Given the description of an element on the screen output the (x, y) to click on. 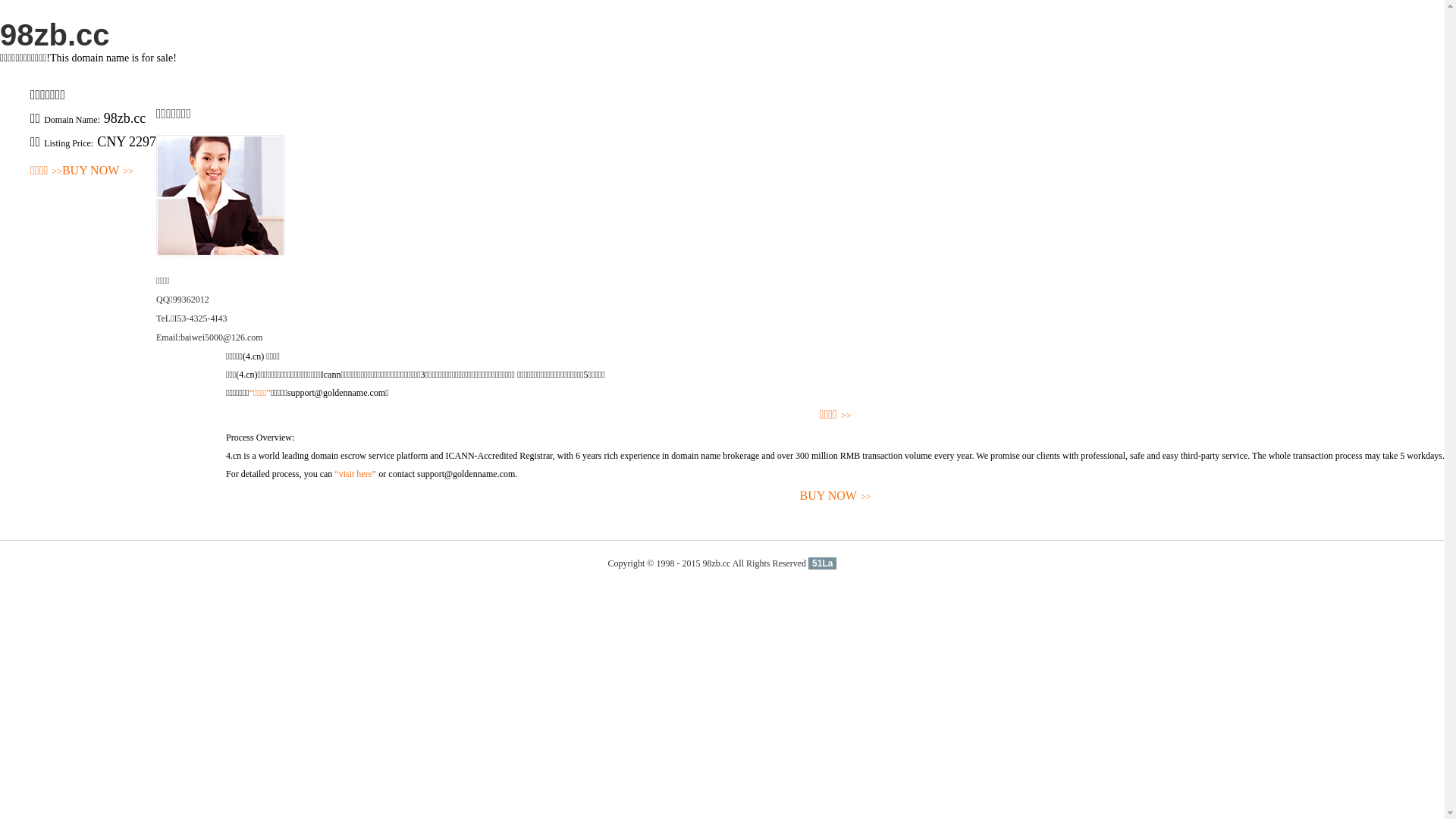
BUY NOW>> Element type: text (97, 170)
BUY NOW>> Element type: text (834, 496)
51La Element type: text (822, 563)
